Given the description of an element on the screen output the (x, y) to click on. 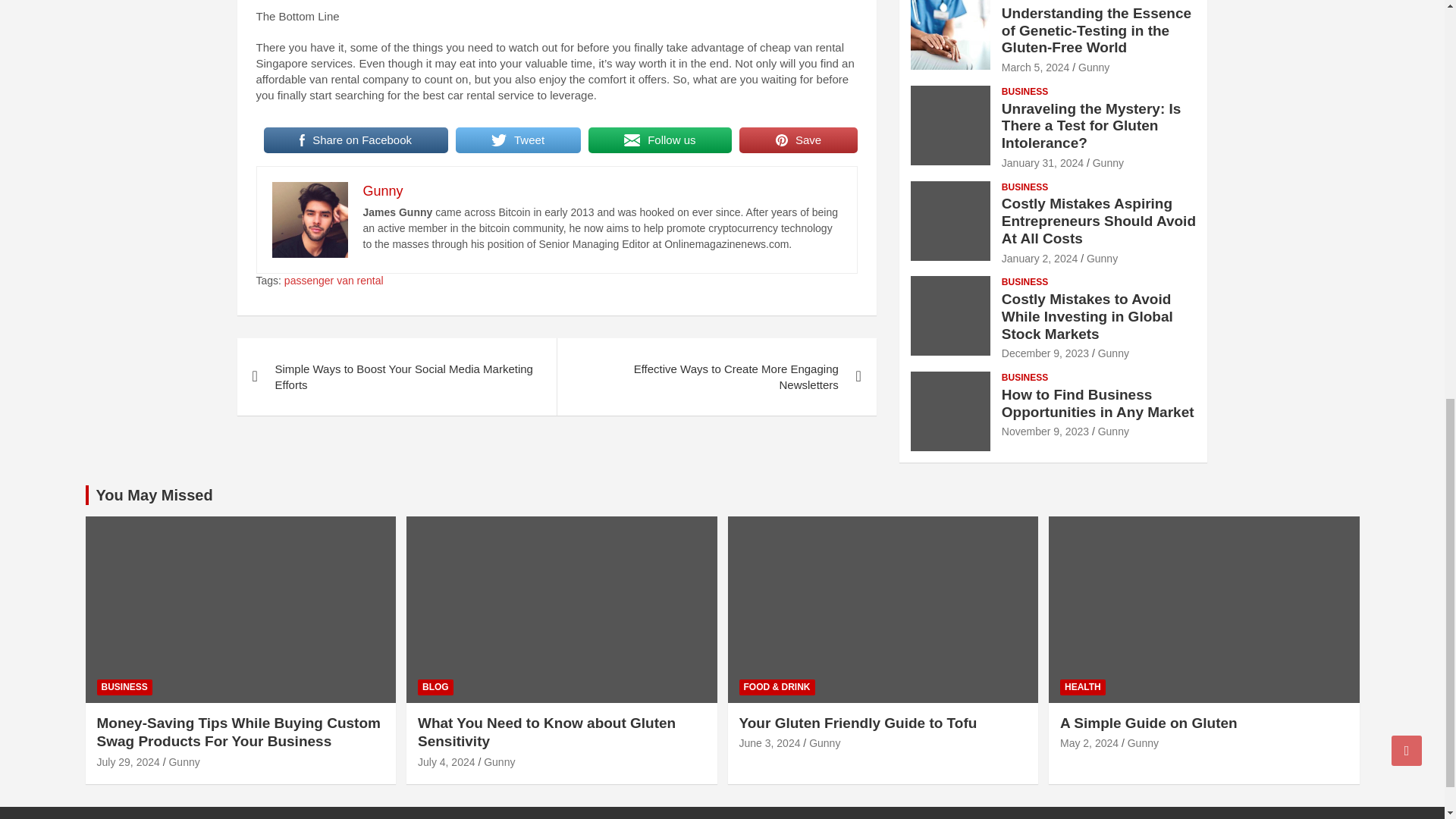
What You Need to Know about Gluten Sensitivity (446, 761)
How to Find Business Opportunities in Any Market (1045, 431)
Save (798, 140)
Follow us (660, 140)
passenger van rental (333, 281)
Effective Ways to Create More Engaging Newsletters (716, 376)
Simple Ways to Boost Your Social Media Marketing Efforts (395, 376)
Tweet (517, 140)
Gunny (382, 191)
A Simple Guide on Gluten (1088, 743)
Your Gluten Friendly Guide to Tofu (768, 743)
